Given the description of an element on the screen output the (x, y) to click on. 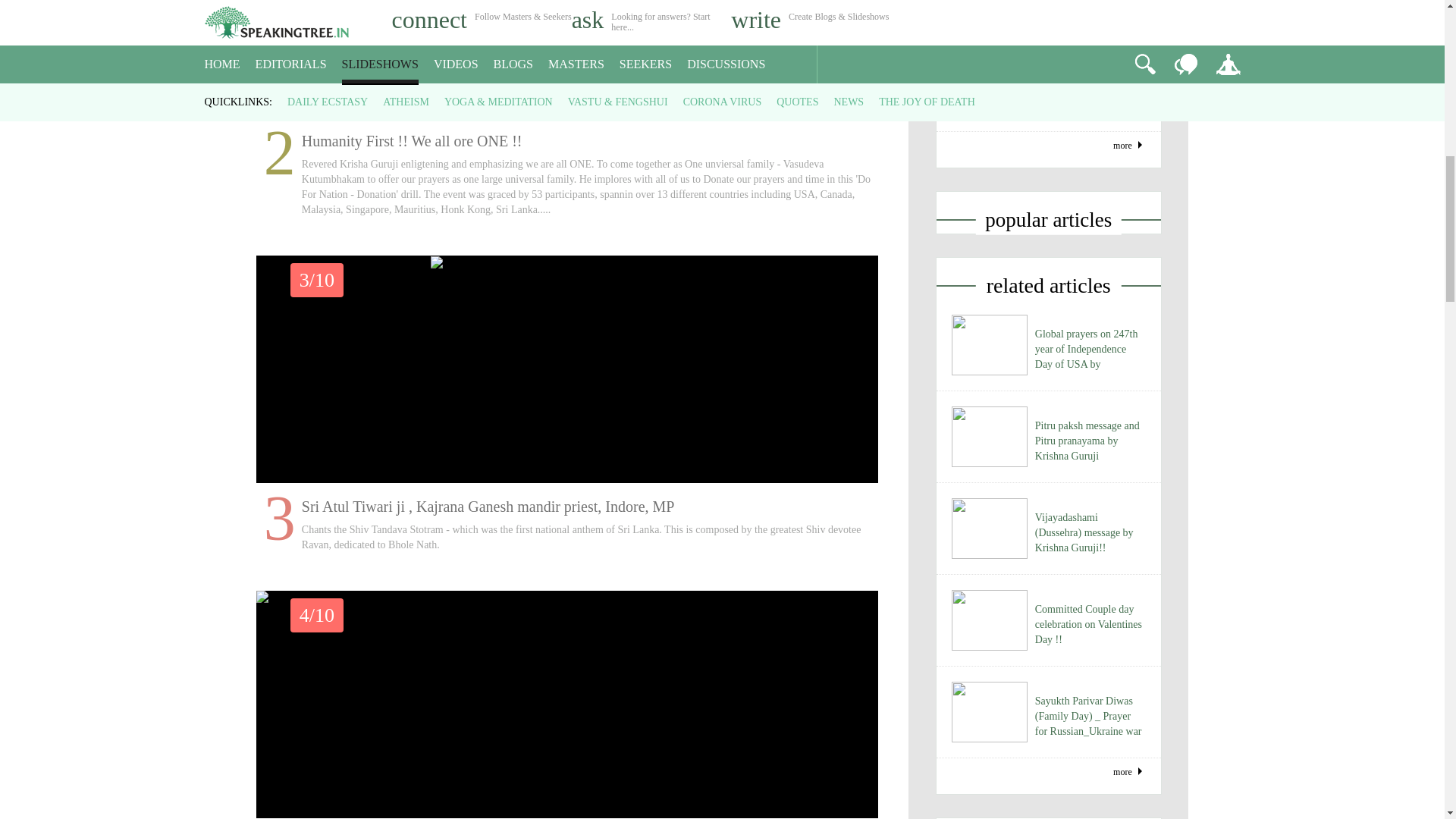
Humanity First !! We all ore ONE !! (566, 58)
